Given the description of an element on the screen output the (x, y) to click on. 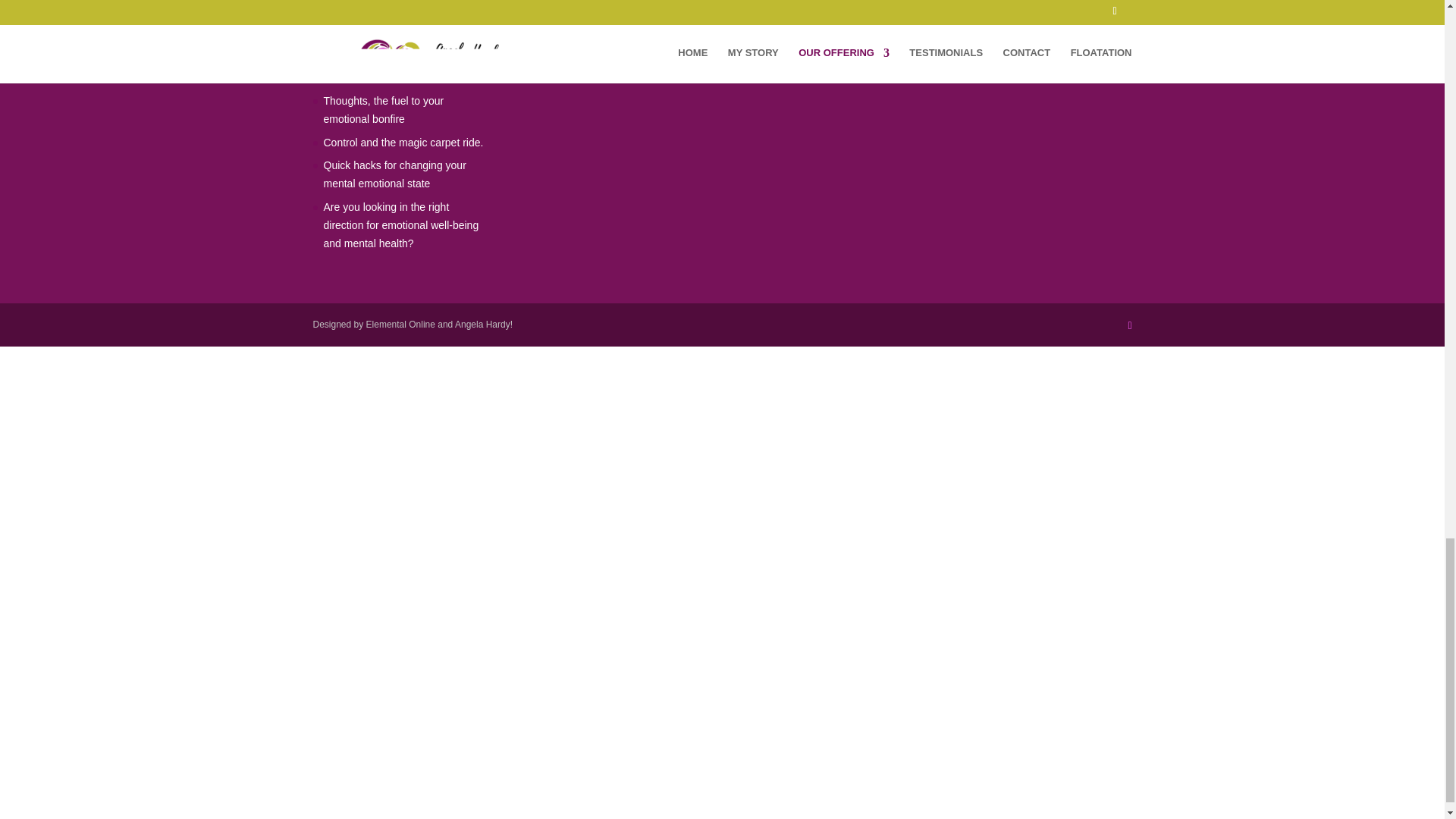
Control and the magic carpet ride. (403, 142)
Thoughts, the fuel to your emotional bonfire (383, 110)
Quick hacks for changing your mental emotional state (394, 173)
